Given the description of an element on the screen output the (x, y) to click on. 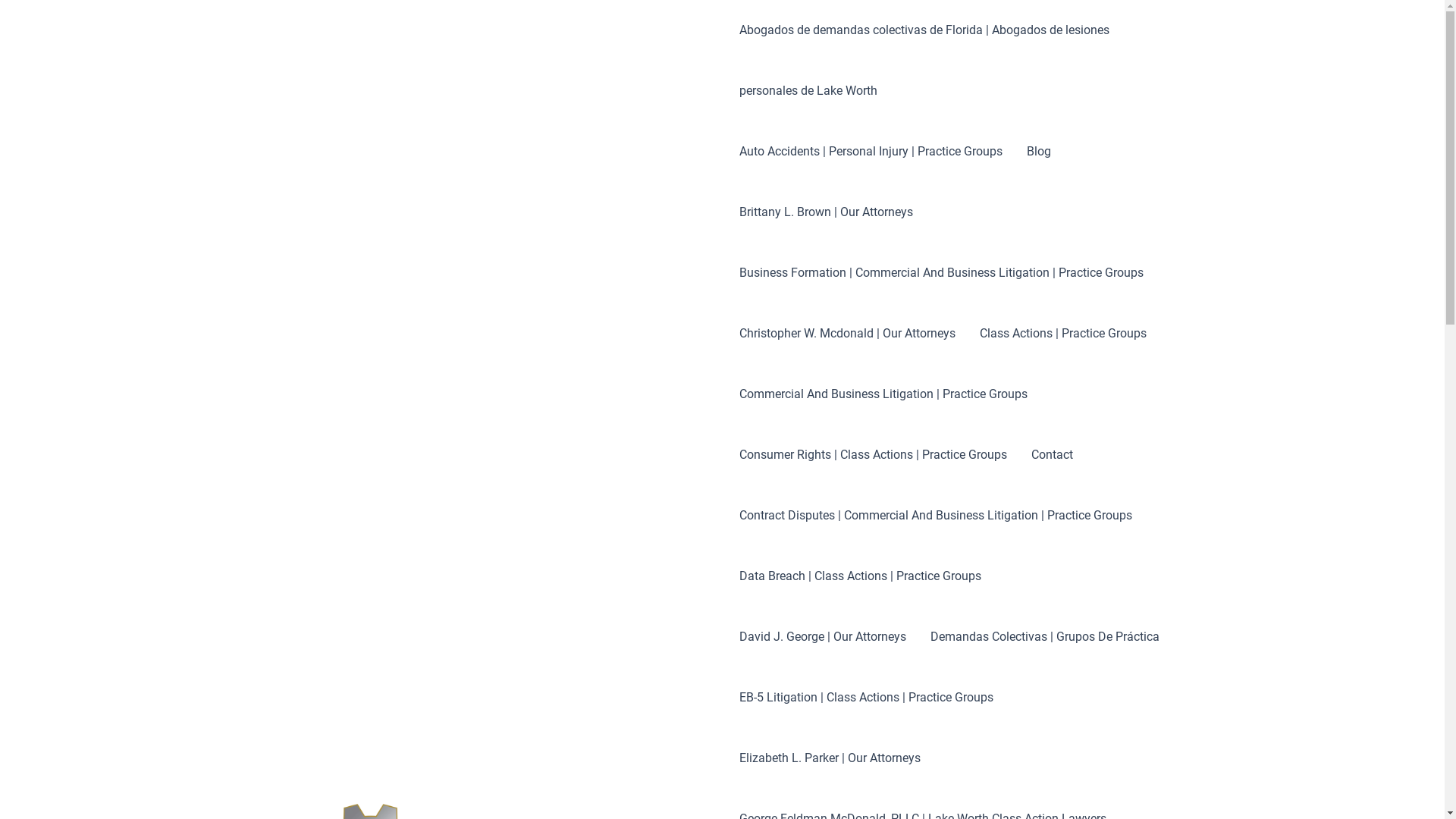
Elizabeth L. Parker | Our Attorneys Element type: text (829, 758)
Class Actions | Practice Groups Element type: text (1062, 333)
EB-5 Litigation | Class Actions | Practice Groups Element type: text (866, 697)
Brittany L. Brown | Our Attorneys Element type: text (826, 212)
Blog Element type: text (1038, 151)
Contact Element type: text (1052, 454)
David J. George | Our Attorneys Element type: text (822, 636)
Consumer Rights | Class Actions | Practice Groups Element type: text (873, 454)
Christopher W. Mcdonald | Our Attorneys Element type: text (847, 333)
Auto Accidents | Personal Injury | Practice Groups Element type: text (870, 151)
Commercial And Business Litigation | Practice Groups Element type: text (883, 394)
Data Breach | Class Actions | Practice Groups Element type: text (860, 576)
